Given the description of an element on the screen output the (x, y) to click on. 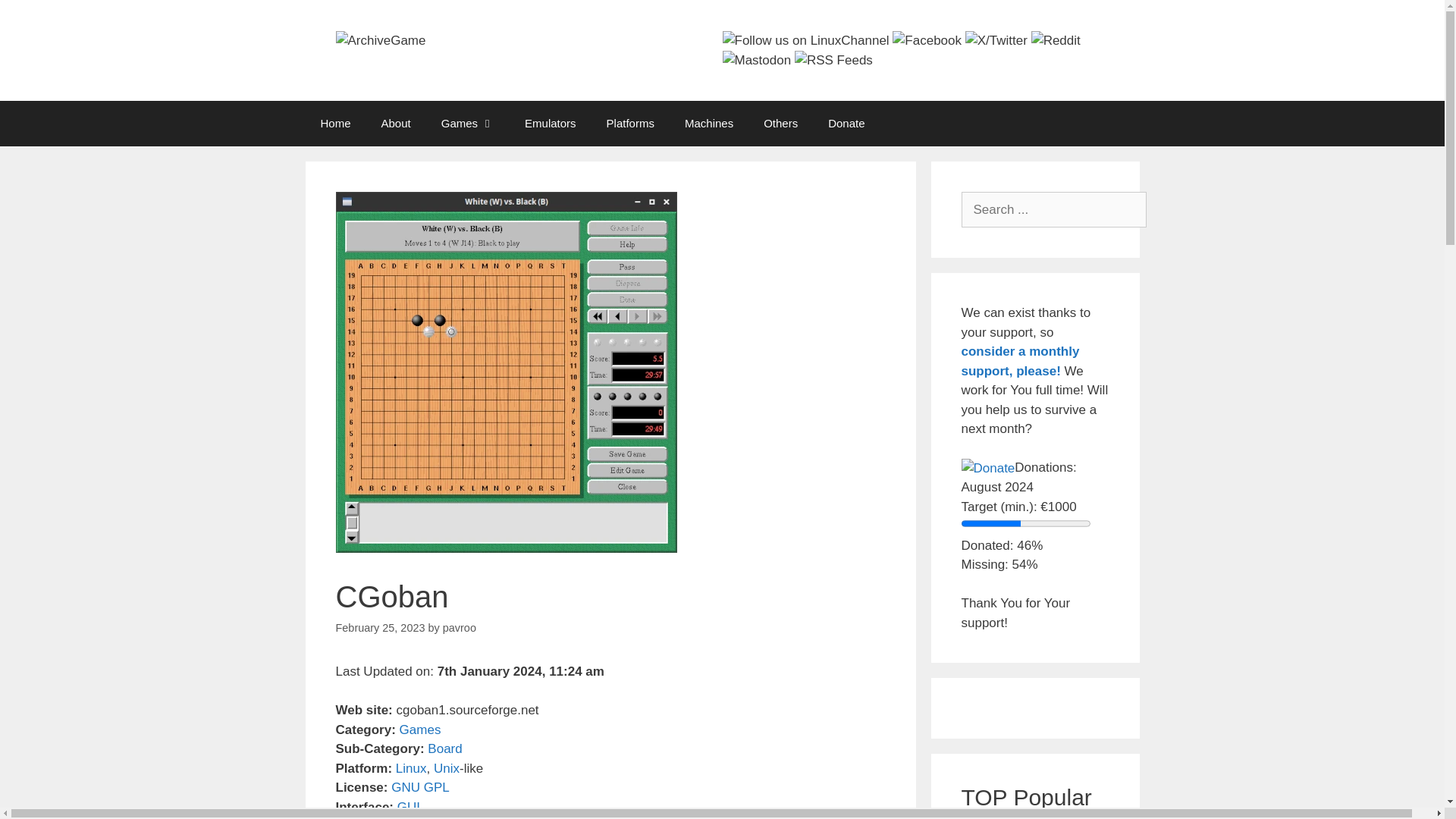
Mastodon (756, 60)
RSS Feeds (833, 60)
Platforms (630, 123)
Machines (708, 123)
Home (334, 123)
pavroo (459, 627)
Facebook (926, 40)
Reddit (1055, 40)
About (396, 123)
Your monthly support is needed! (1020, 360)
